Given the description of an element on the screen output the (x, y) to click on. 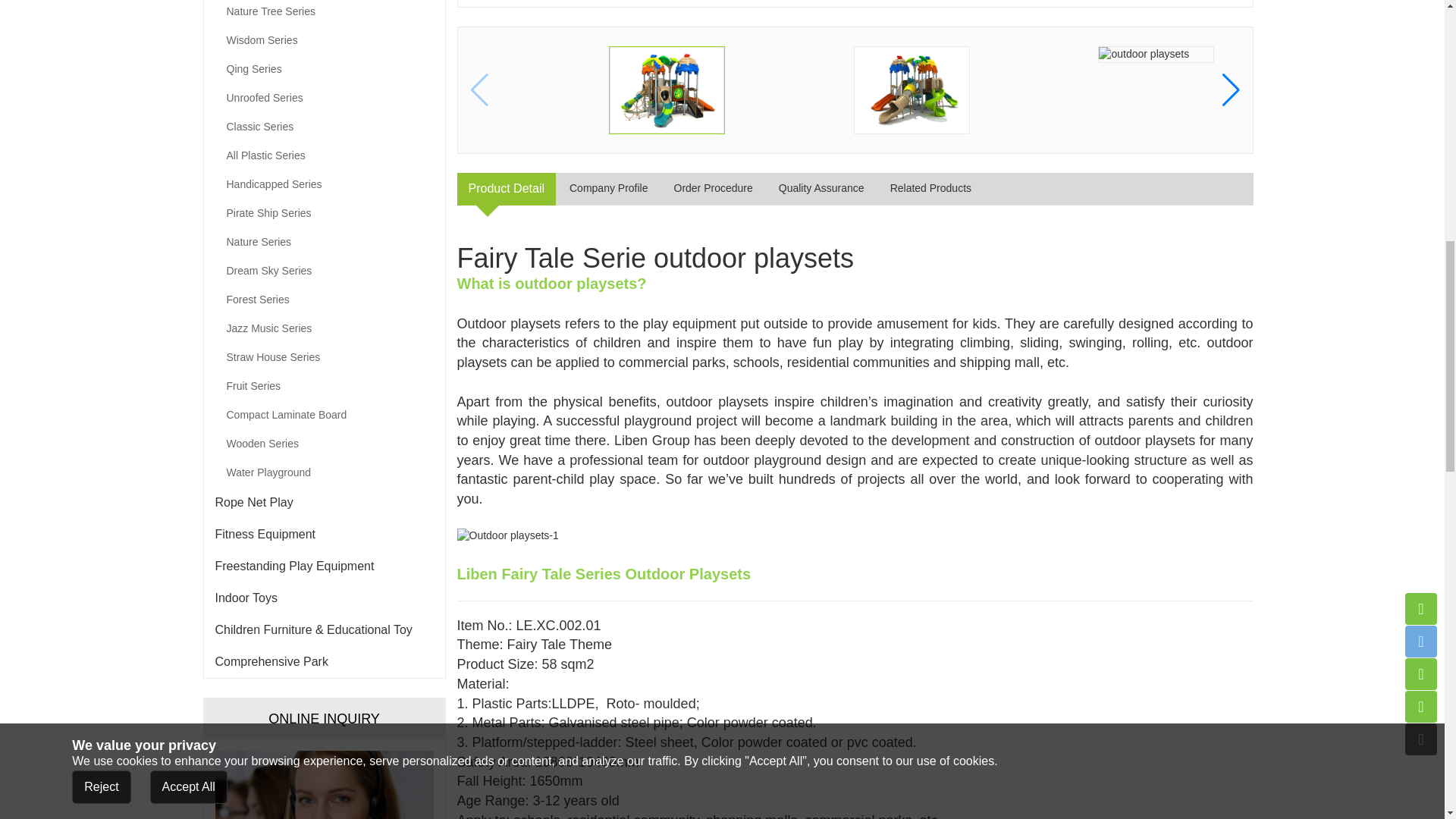
All Plastic Series (323, 154)
Qing Series (323, 68)
Classic Series (323, 126)
Nature Tree Series (323, 12)
Unroofed Series (323, 97)
Wisdom Series (323, 39)
Pirate Ship Series (323, 213)
Nature Series (323, 241)
Handicapped Series (323, 184)
